Given the description of an element on the screen output the (x, y) to click on. 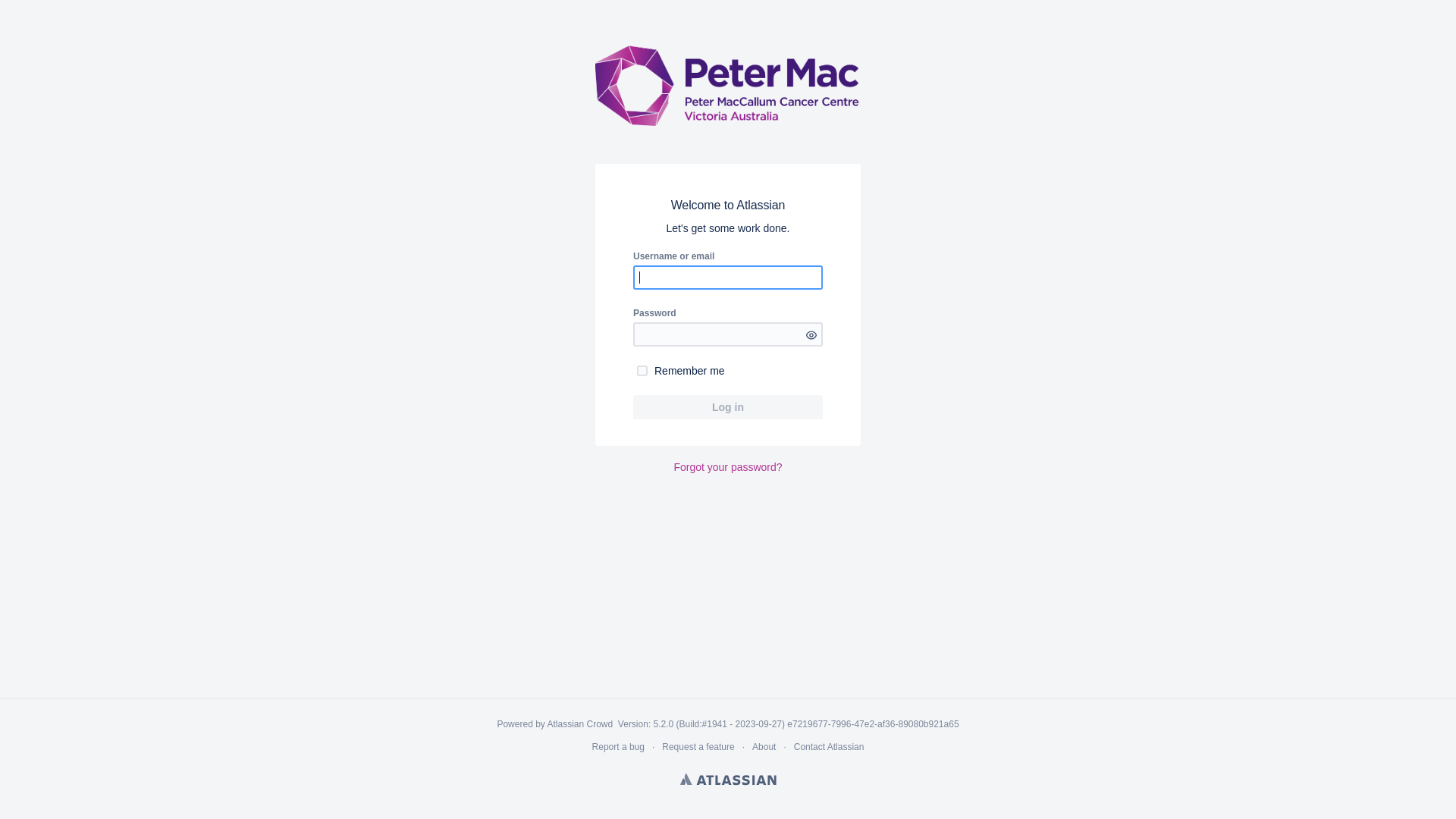
Contact Atlassian Element type: text (828, 746)
Report a bug Element type: text (618, 746)
Log in Element type: text (727, 407)
About Element type: text (763, 746)
Request a feature Element type: text (698, 746)
Atlassian Element type: text (727, 778)
Forgot your password? Element type: text (727, 466)
Atlassian Crowd   Element type: text (581, 723)
